Given the description of an element on the screen output the (x, y) to click on. 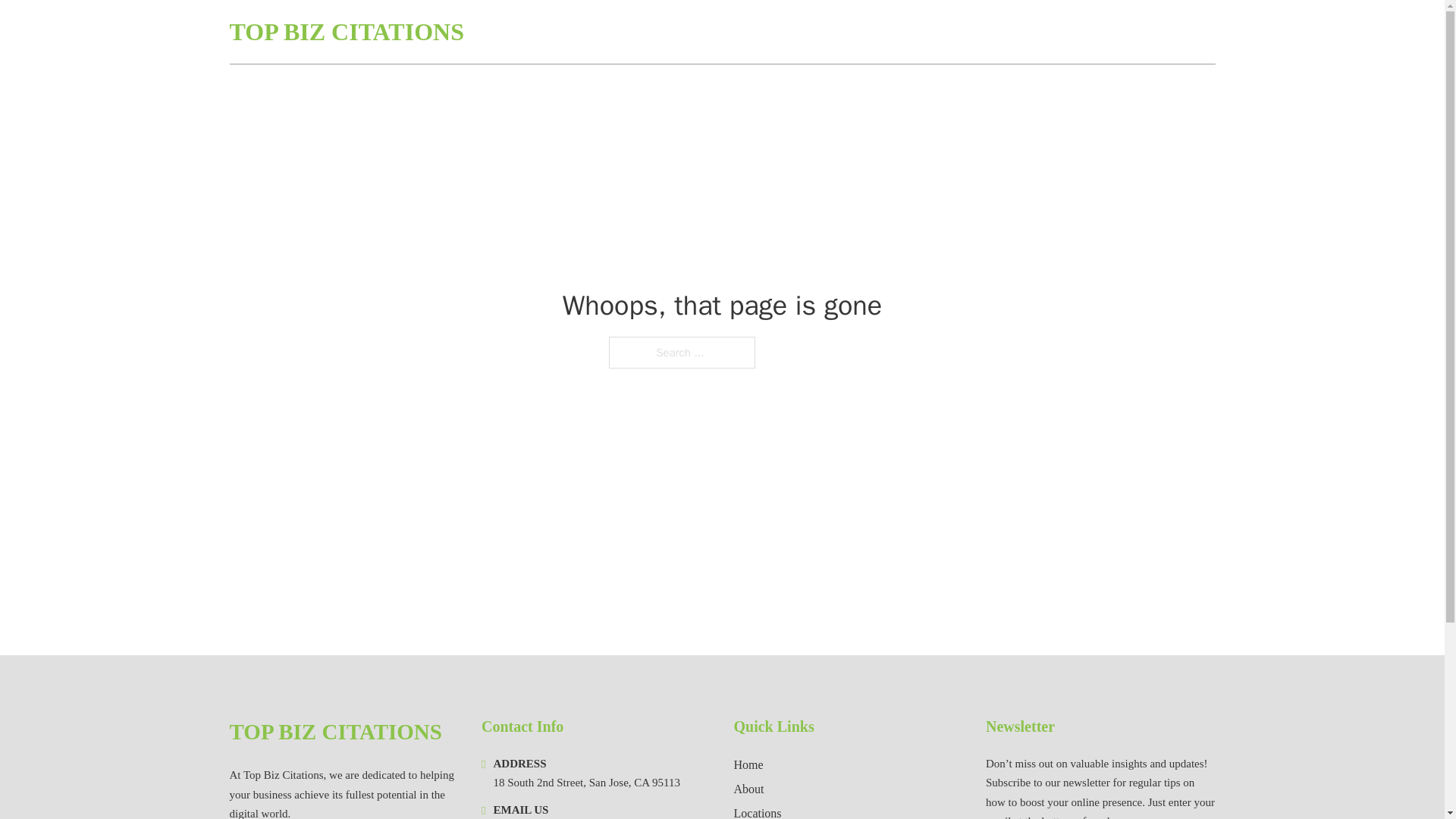
TOP BIZ CITATIONS (334, 732)
HOME (1032, 31)
LOCATIONS (1105, 31)
Locations (757, 811)
Home (747, 764)
TOP BIZ CITATIONS (345, 31)
About (748, 788)
